Given the description of an element on the screen output the (x, y) to click on. 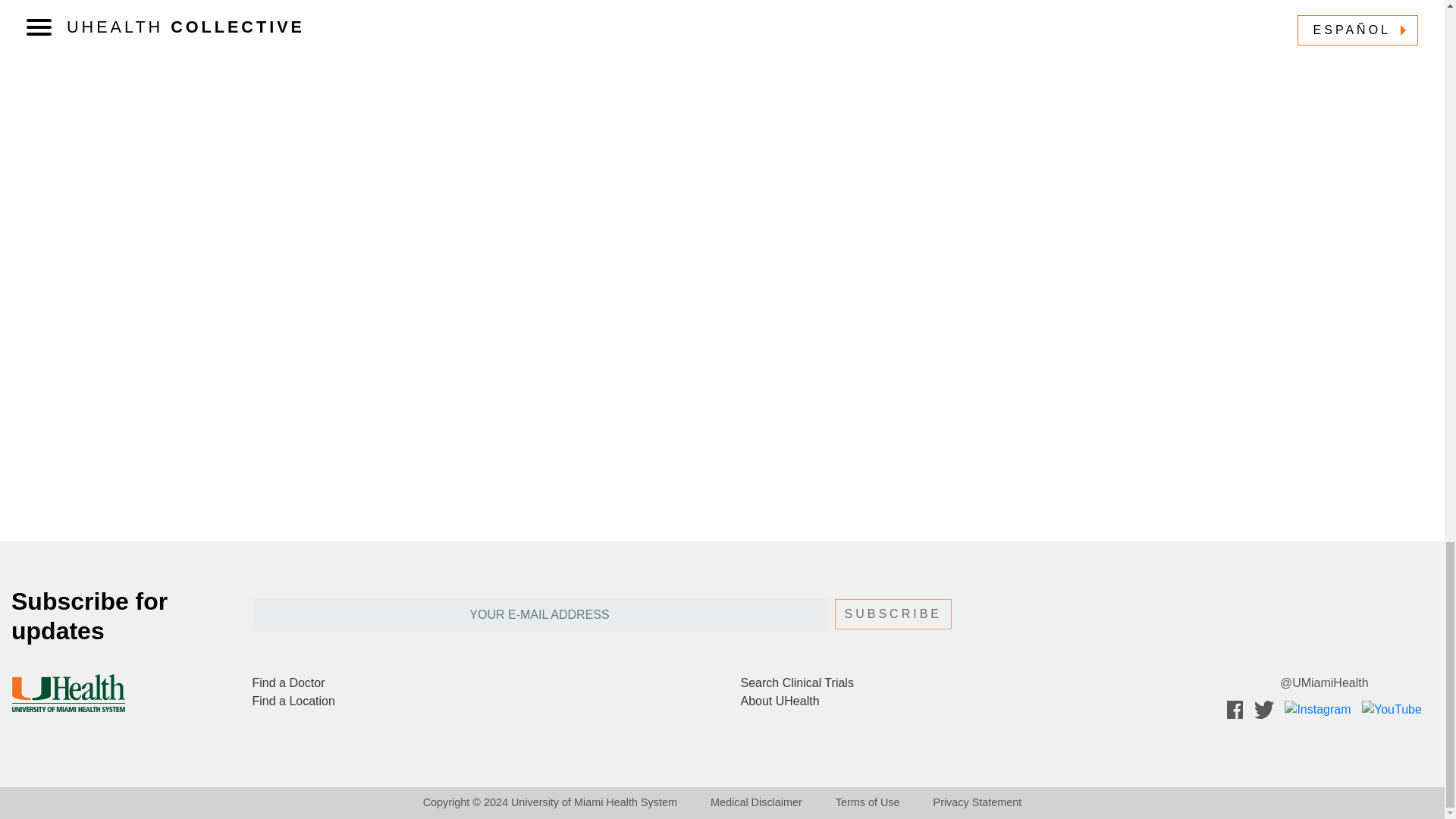
Subscribe (893, 613)
